Given the description of an element on the screen output the (x, y) to click on. 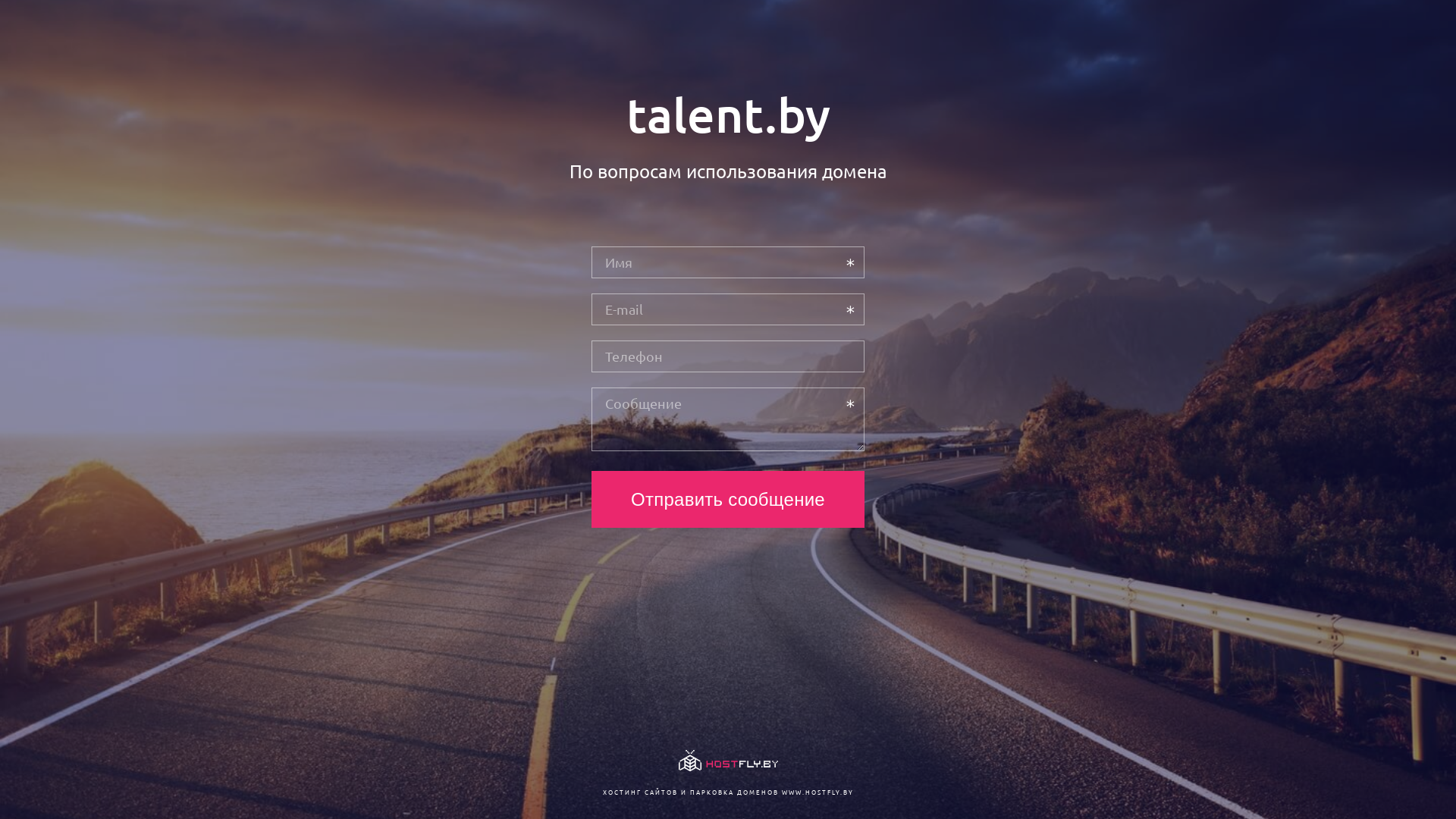
WWW.HOSTFLY.BY Element type: text (817, 791)
